Given the description of an element on the screen output the (x, y) to click on. 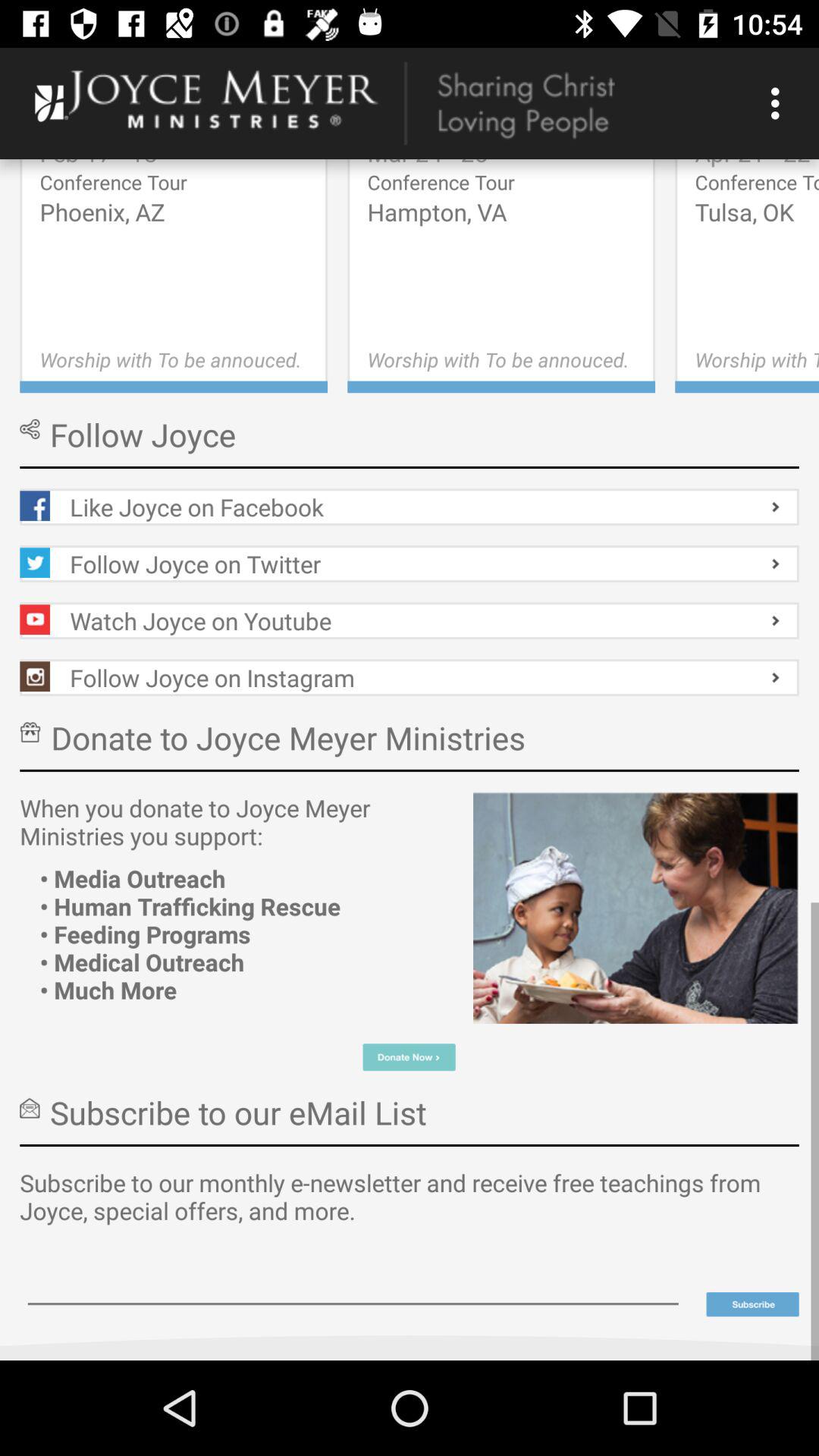
text field for writing (352, 1283)
